Given the description of an element on the screen output the (x, y) to click on. 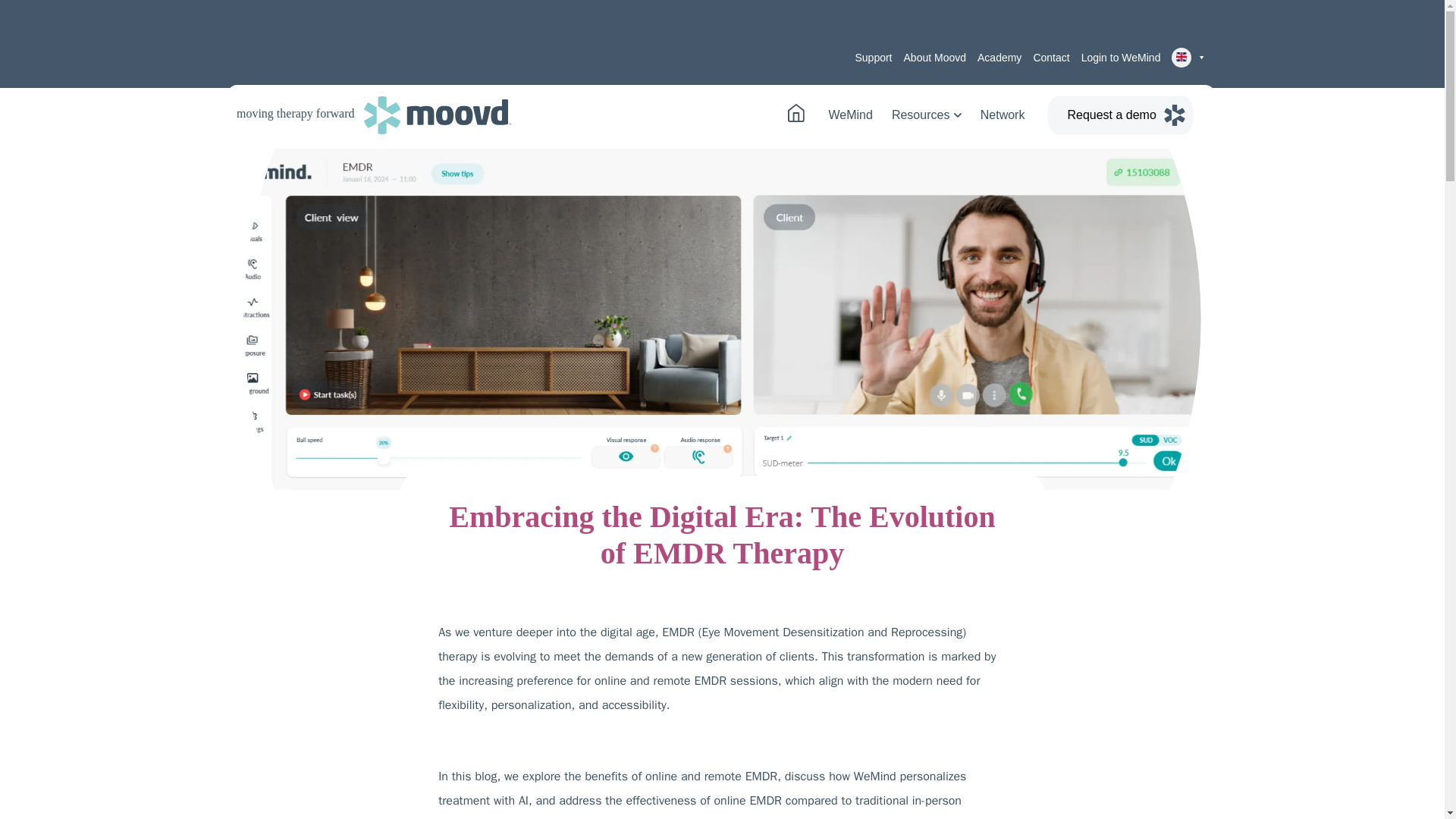
Support (872, 57)
Request a demo (1119, 115)
Contact (1050, 57)
Network (1002, 115)
Academy (999, 57)
Login to WeMind (1120, 57)
About Moovd (935, 57)
WeMind (850, 115)
Resources (925, 115)
